Given the description of an element on the screen output the (x, y) to click on. 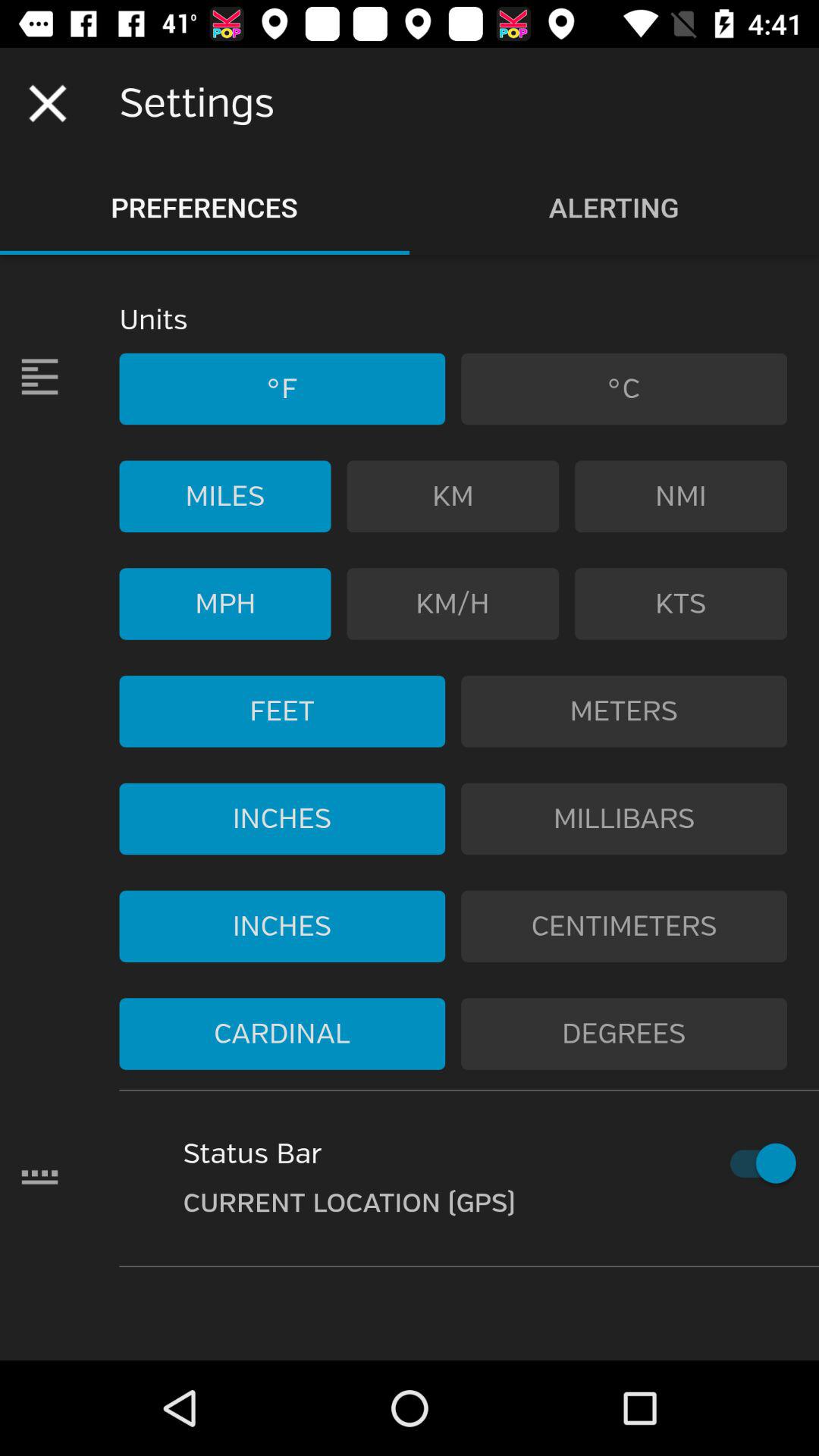
turn location on off (755, 1163)
